Given the description of an element on the screen output the (x, y) to click on. 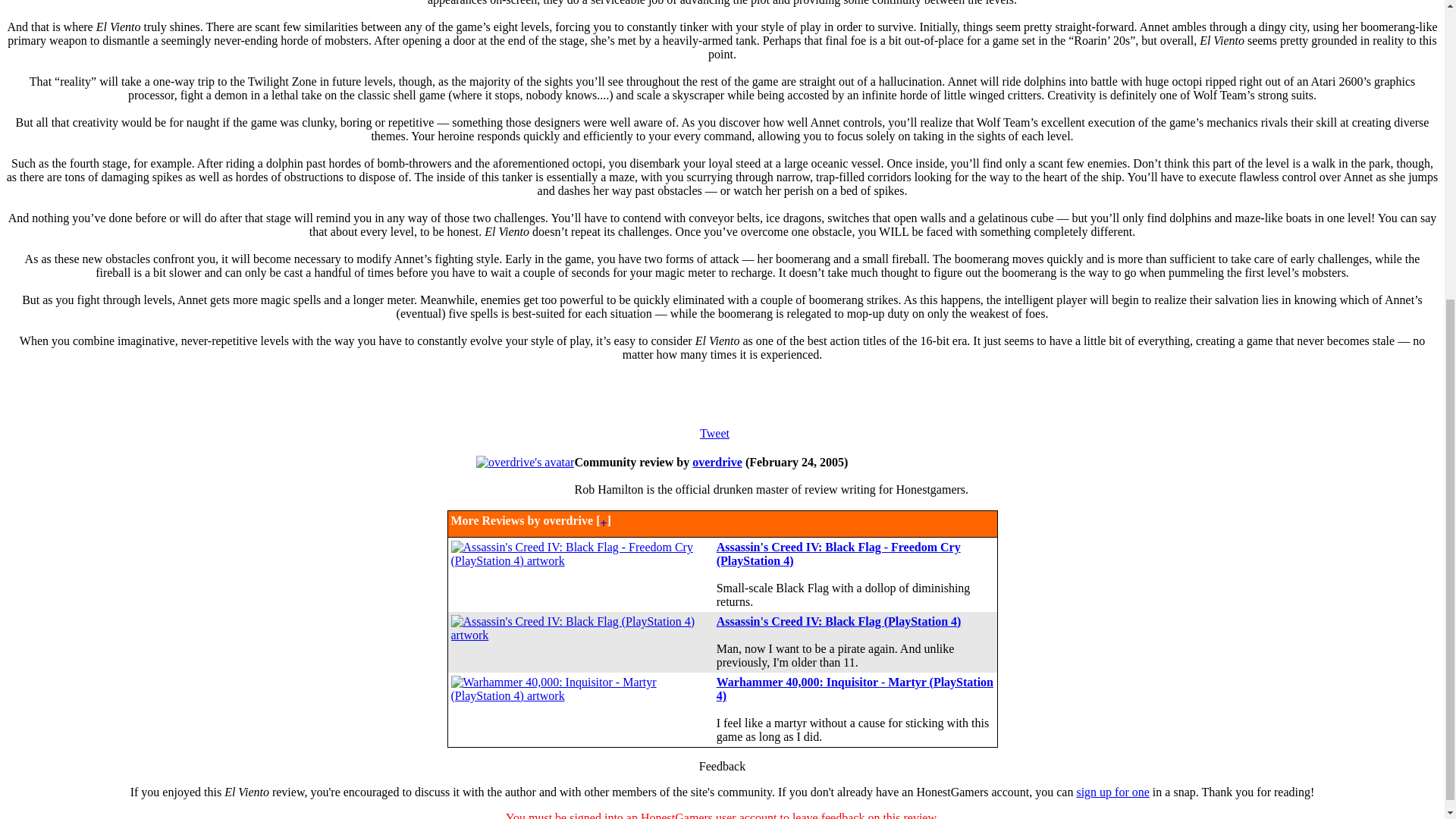
Tweet (714, 432)
overdrive (717, 461)
sign up for one (1111, 791)
